Given the description of an element on the screen output the (x, y) to click on. 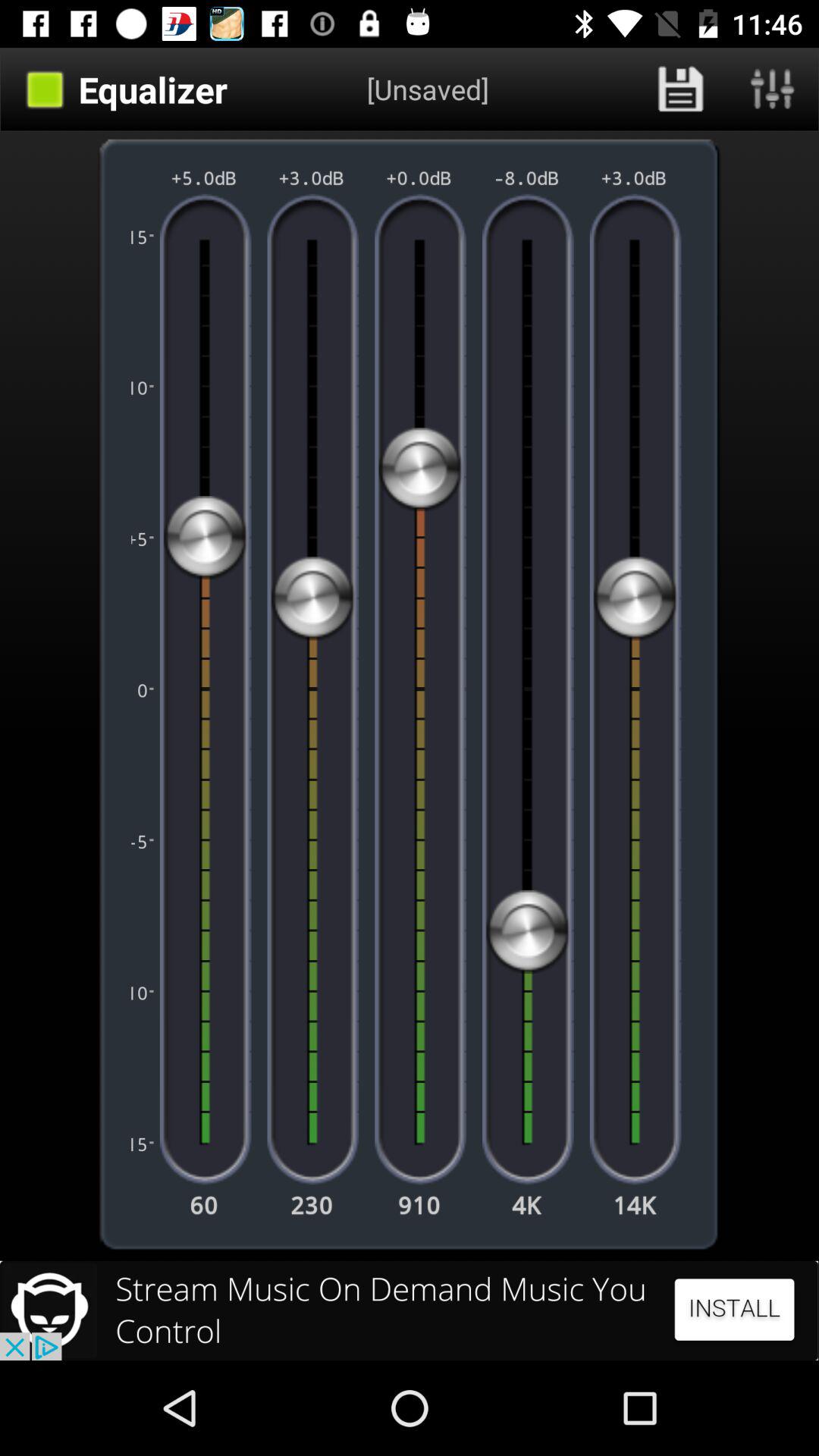
open equalizer presets (773, 89)
